Given the description of an element on the screen output the (x, y) to click on. 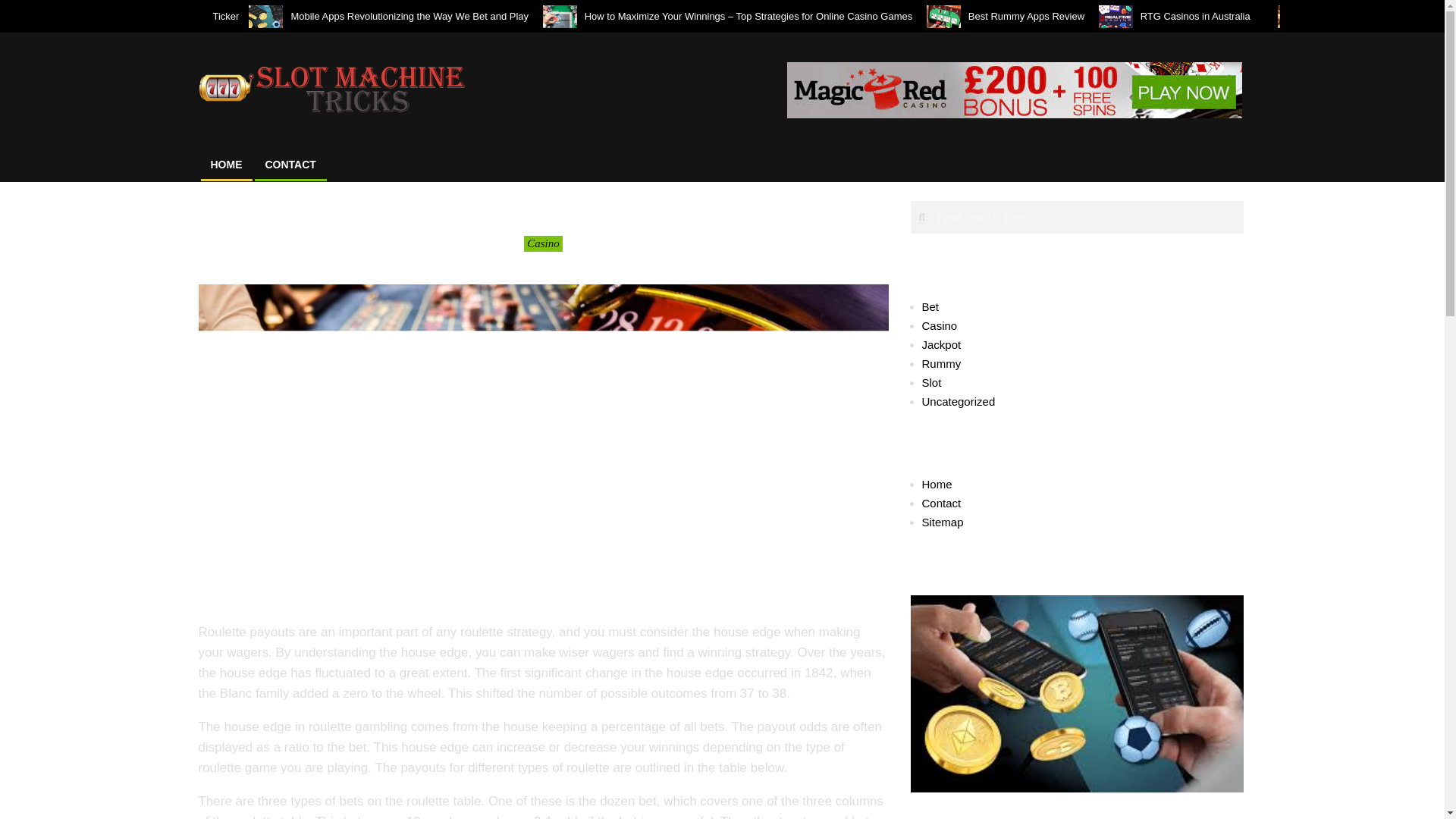
HOME (225, 164)
Bet (930, 306)
Jackpot (940, 344)
RTG Casinos in Australia      (1201, 16)
Rummy (940, 363)
Best Rummy Apps Review (1026, 16)
Mobile Apps Revolutionizing the Way We Bet and Play (408, 16)
CONTACT (289, 164)
Casino (939, 325)
Casino (543, 243)
